Given the description of an element on the screen output the (x, y) to click on. 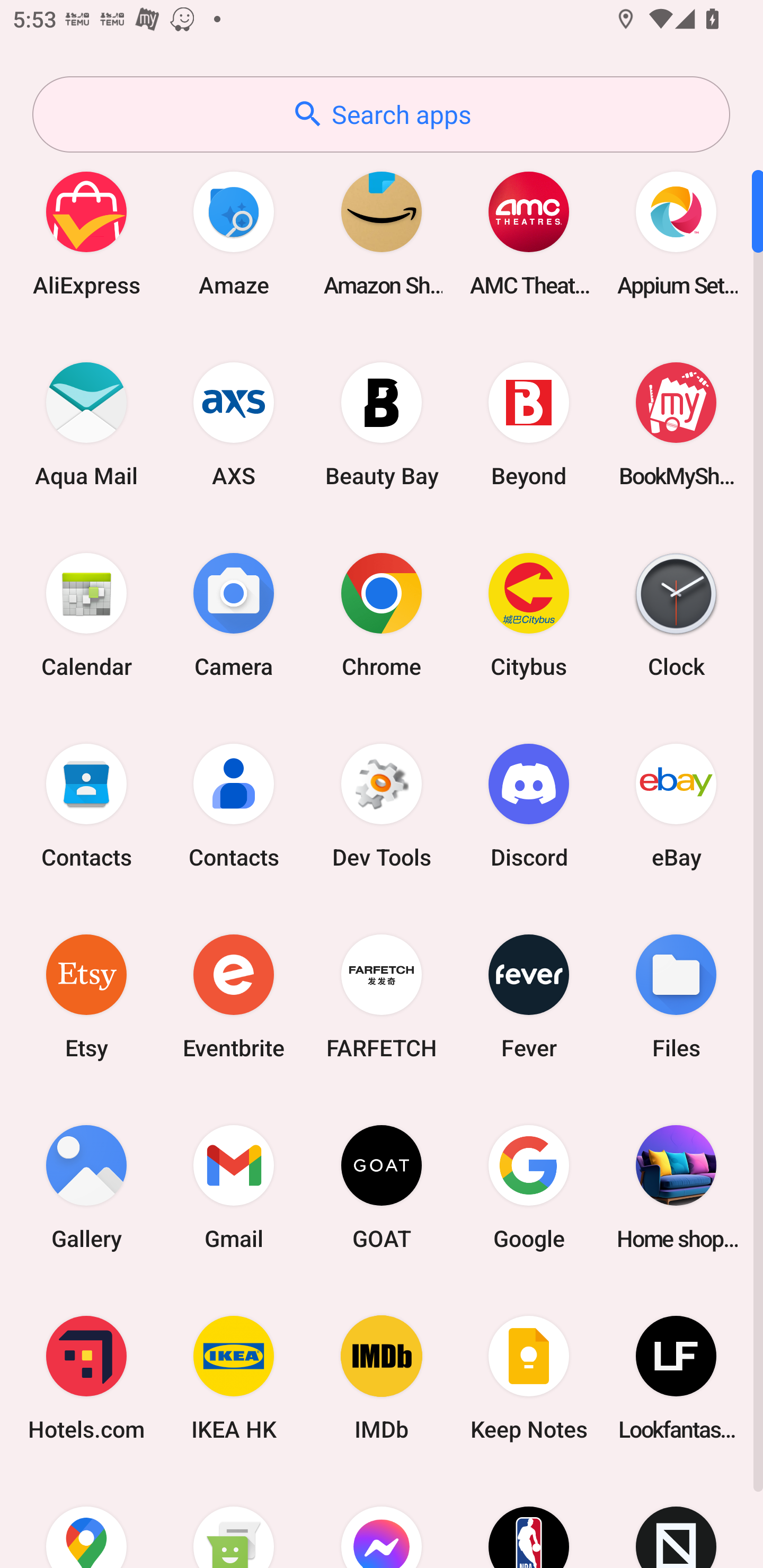
  Search apps (381, 114)
AliExpress (86, 233)
Amaze (233, 233)
Amazon Shopping (381, 233)
AMC Theatres (528, 233)
Appium Settings (676, 233)
Aqua Mail (86, 424)
AXS (233, 424)
Beauty Bay (381, 424)
Beyond (528, 424)
BookMyShow (676, 424)
Calendar (86, 614)
Camera (233, 614)
Chrome (381, 614)
Citybus (528, 614)
Clock (676, 614)
Contacts (86, 805)
Contacts (233, 805)
Dev Tools (381, 805)
Discord (528, 805)
eBay (676, 805)
Etsy (86, 996)
Eventbrite (233, 996)
FARFETCH (381, 996)
Fever (528, 996)
Files (676, 996)
Gallery (86, 1186)
Gmail (233, 1186)
GOAT (381, 1186)
Google (528, 1186)
Home shopping (676, 1186)
Hotels.com (86, 1377)
IKEA HK (233, 1377)
IMDb (381, 1377)
Keep Notes (528, 1377)
Lookfantastic (676, 1377)
Maps (86, 1520)
Messaging (233, 1520)
Messenger (381, 1520)
NBA (528, 1520)
Novelship (676, 1520)
